Given the description of an element on the screen output the (x, y) to click on. 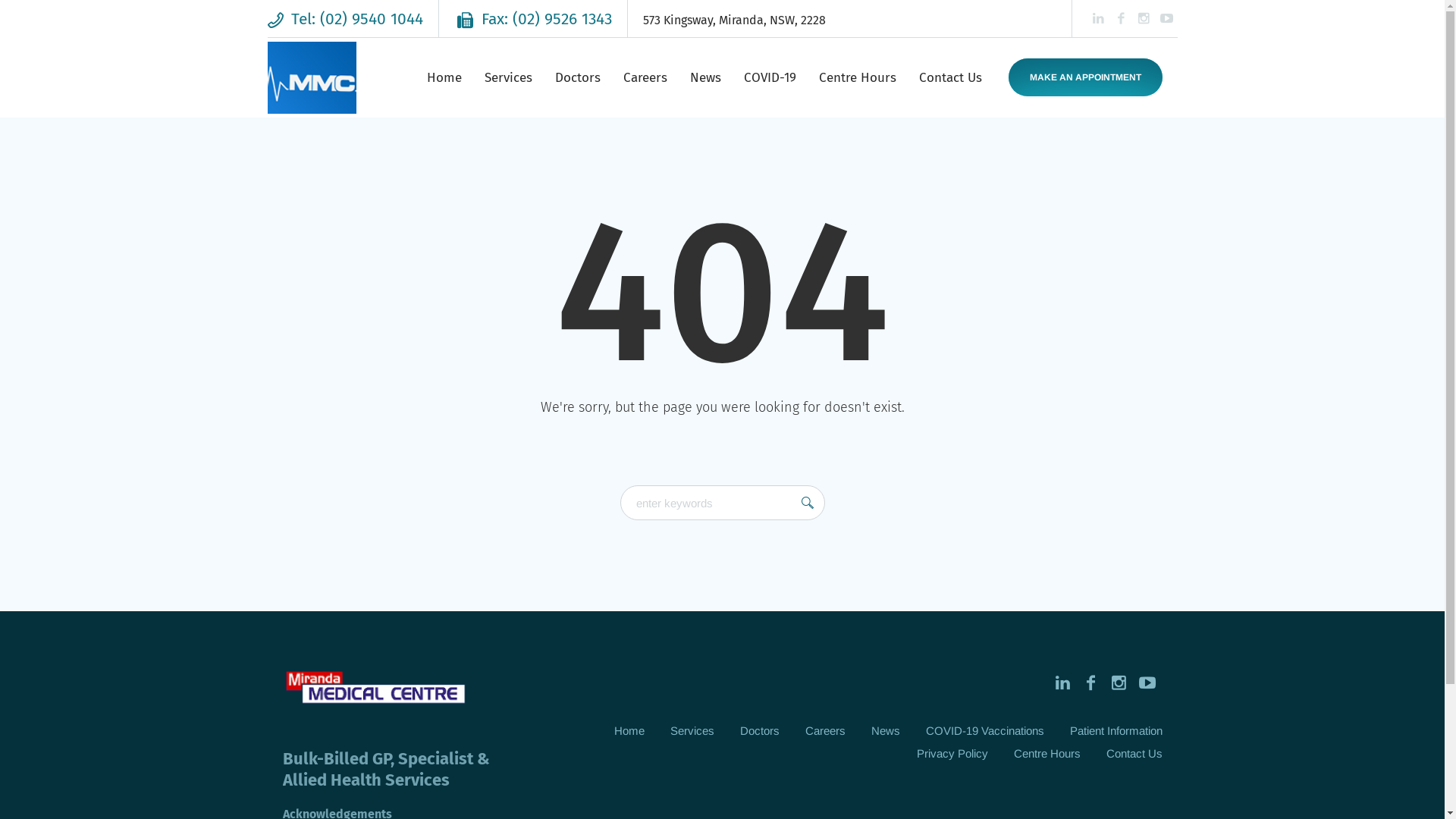
Fax: (02) 9526 1343 Element type: text (534, 18)
News Element type: text (704, 78)
Careers Element type: text (825, 730)
LinkedIn Element type: hover (1097, 17)
COVID-19 Vaccinations Element type: text (984, 730)
Miranda Medical Centre Element type: hover (374, 689)
Services Element type: text (692, 730)
Doctors Element type: text (576, 78)
Instagram Element type: hover (1119, 682)
Patient Information Element type: text (1115, 730)
Home Element type: text (444, 78)
COVID-19 Element type: text (769, 78)
Careers Element type: text (644, 78)
Centre Hours Element type: text (856, 78)
Facebook Element type: hover (1120, 17)
Contact Us Element type: text (1133, 752)
MAKE AN APPOINTMENT Element type: text (1085, 77)
Contact Us Element type: text (949, 78)
Facebook Element type: hover (1090, 682)
Instagram Element type: hover (1143, 17)
Centre Hours Element type: text (1046, 752)
YouTube Element type: hover (1165, 17)
LinkedIn Element type: hover (1063, 682)
News Element type: text (884, 730)
Home Element type: text (629, 730)
Tel: (02) 9540 1044 Element type: text (345, 18)
Privacy Policy Element type: text (951, 752)
Services Element type: text (508, 78)
Doctors Element type: text (759, 730)
YouTube Element type: hover (1146, 682)
